Given the description of an element on the screen output the (x, y) to click on. 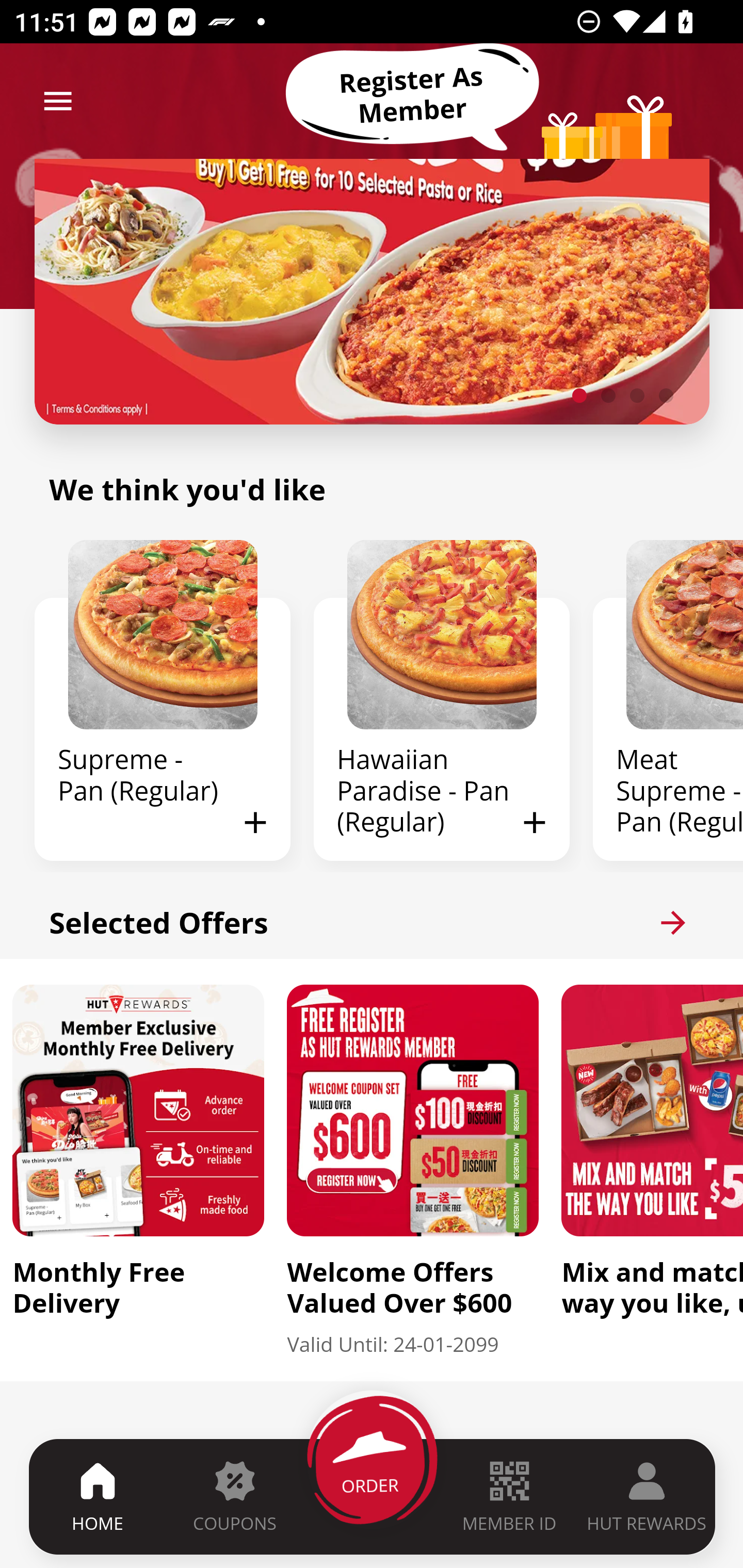
Register As Member (411, 95)
menu (58, 100)
arrow_forward (672, 922)
HOME (97, 1496)
COUPONS (234, 1496)
ORDER (372, 1496)
MEMBER ID (509, 1496)
HUT REWARDS (647, 1496)
